Given the description of an element on the screen output the (x, y) to click on. 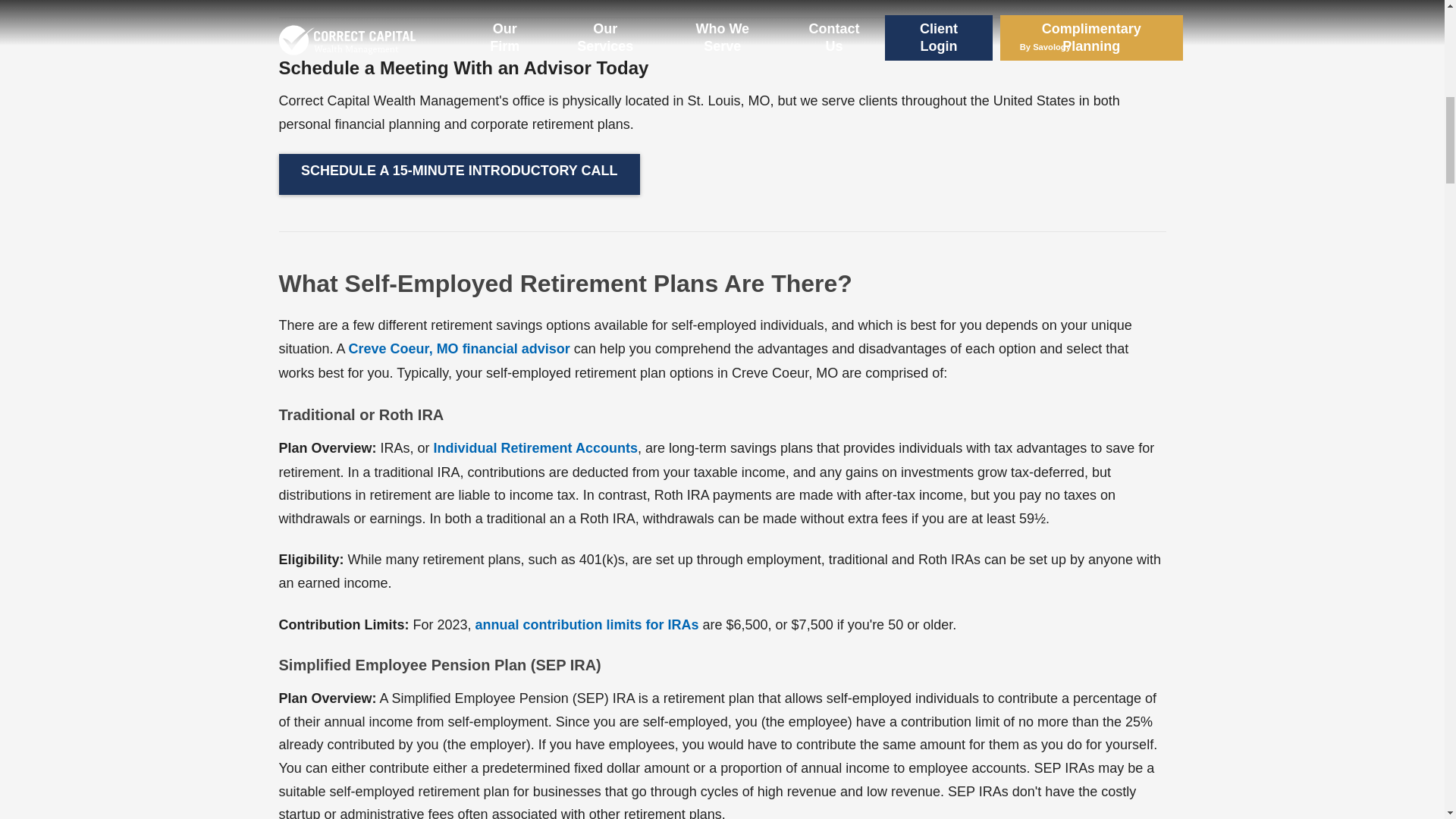
Creve Coeur, MO financial advisor (459, 349)
IRS (535, 448)
SCHEDULE A 15-MINUTE INTRODUCTORY CALL (459, 173)
annual contribution limits for IRAs (587, 625)
Individual Retirement Accounts (535, 448)
